Given the description of an element on the screen output the (x, y) to click on. 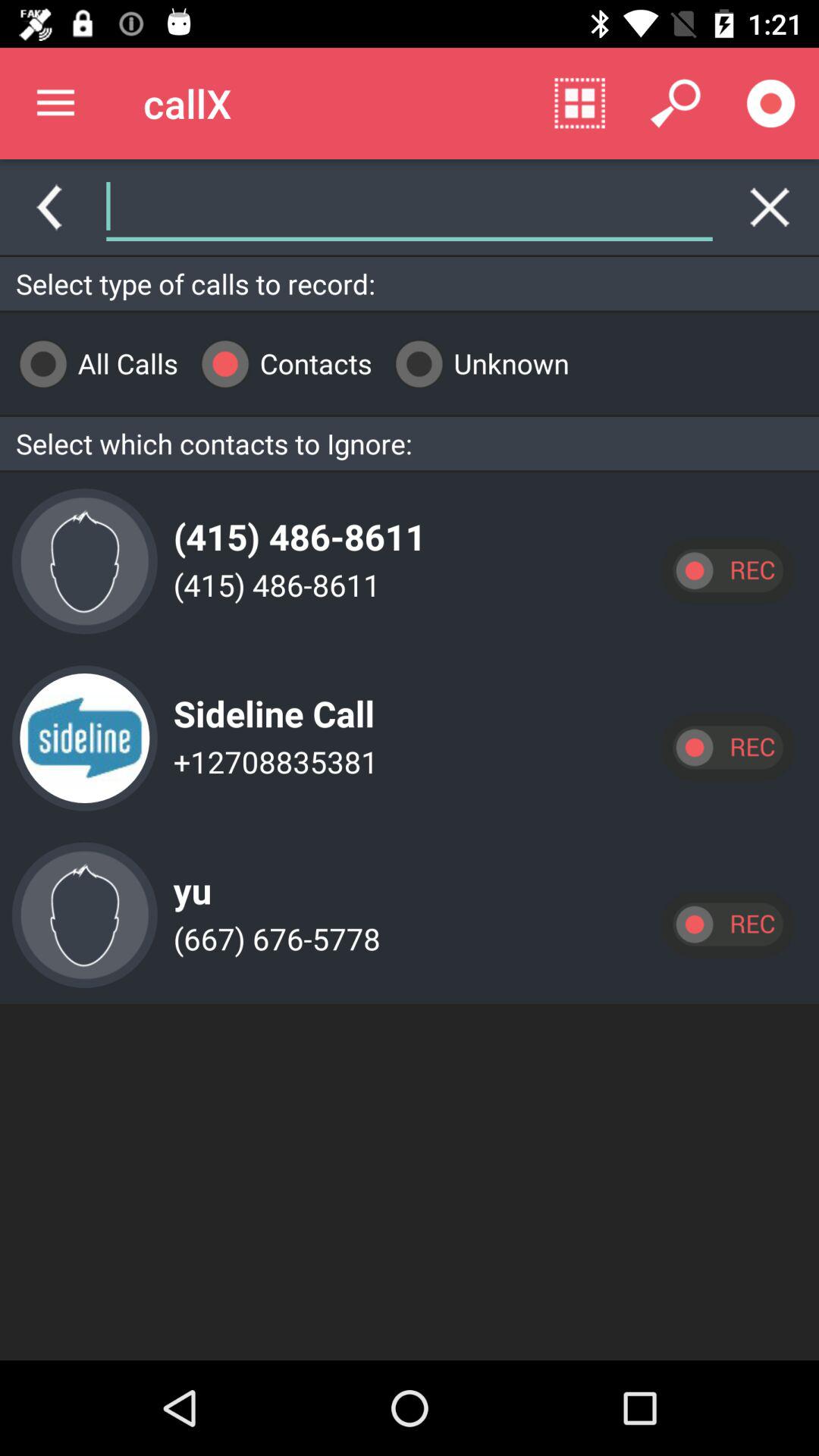
record calls (727, 747)
